Given the description of an element on the screen output the (x, y) to click on. 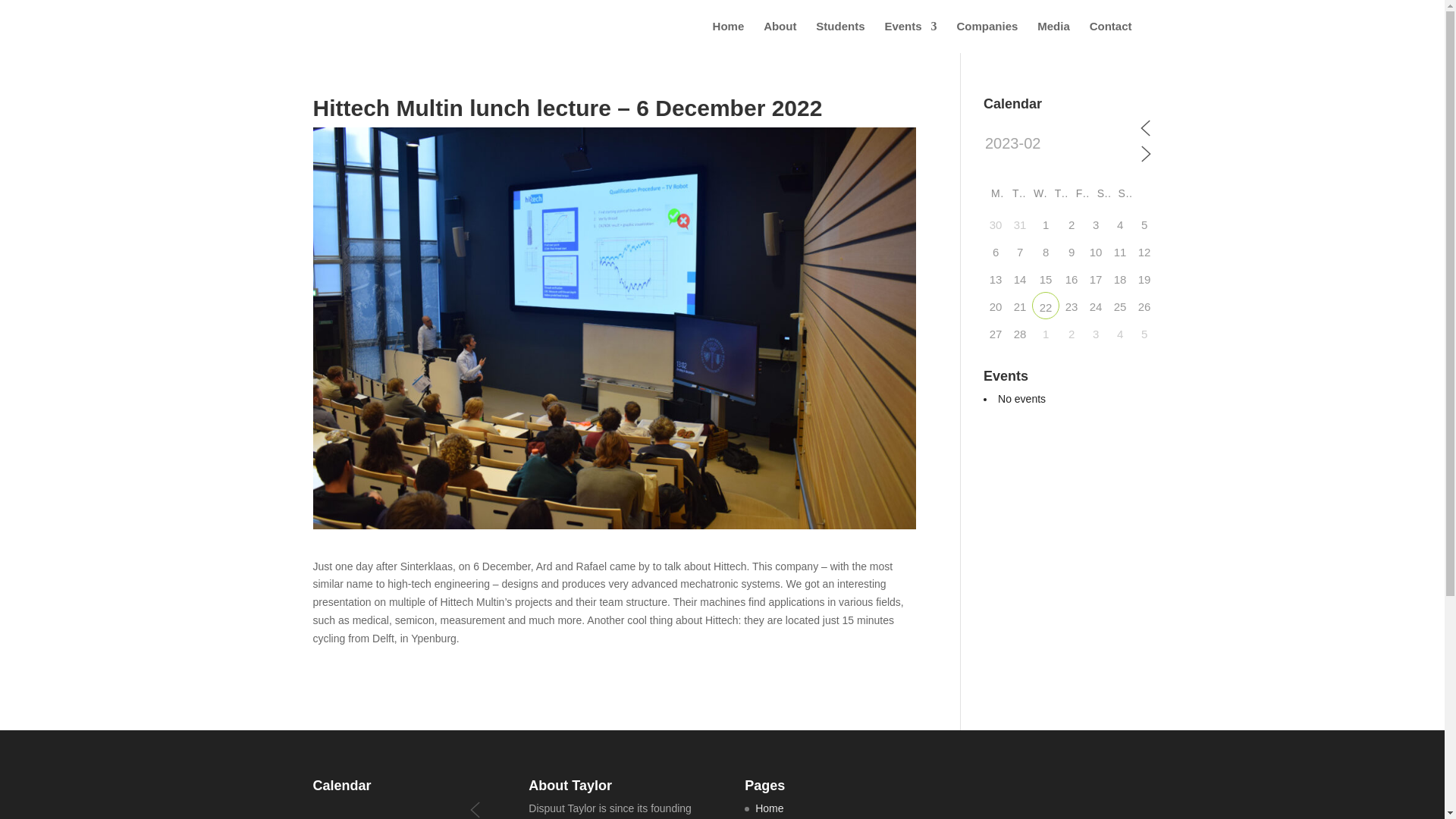
Contact (1110, 37)
Students (839, 37)
2023-02 (1060, 143)
Events (909, 37)
22 (1045, 305)
2023-02 (389, 815)
Companies (986, 37)
Media (1053, 37)
About (779, 37)
Lunch Lecture ACE (1045, 305)
Home (728, 37)
